Given the description of an element on the screen output the (x, y) to click on. 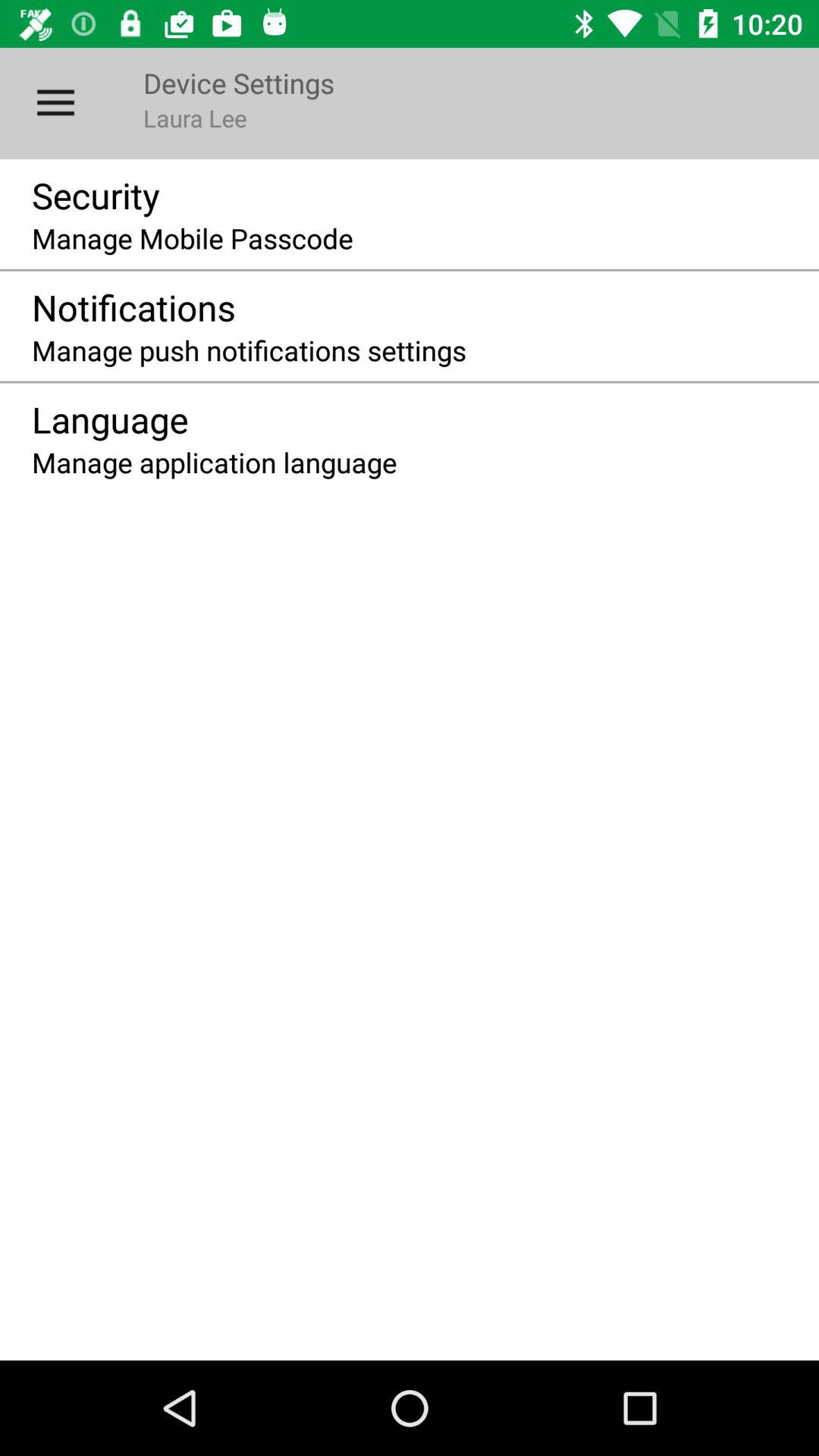
tap item to the left of device settings (55, 103)
